Given the description of an element on the screen output the (x, y) to click on. 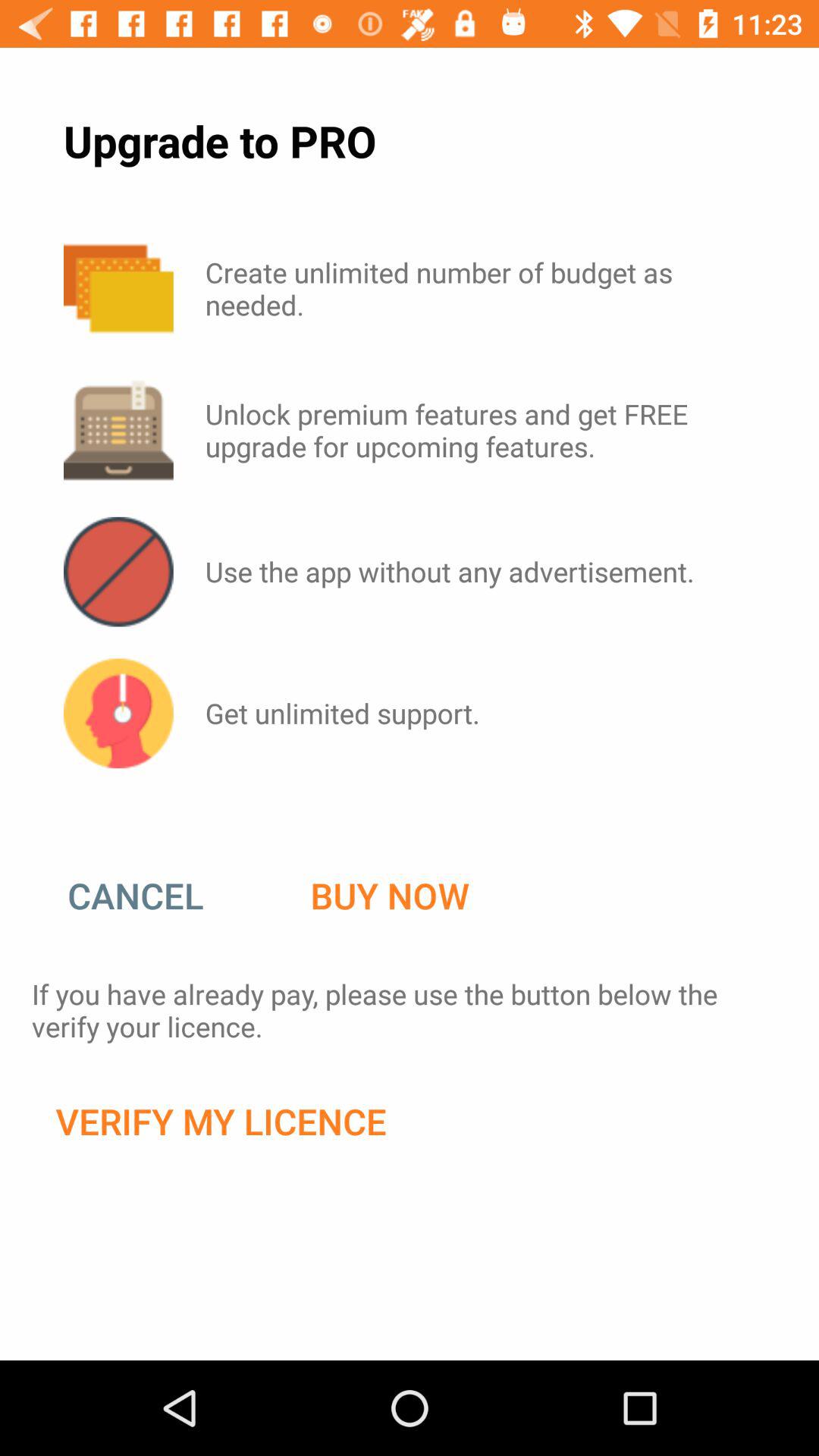
tap icon next to cancel (389, 895)
